Given the description of an element on the screen output the (x, y) to click on. 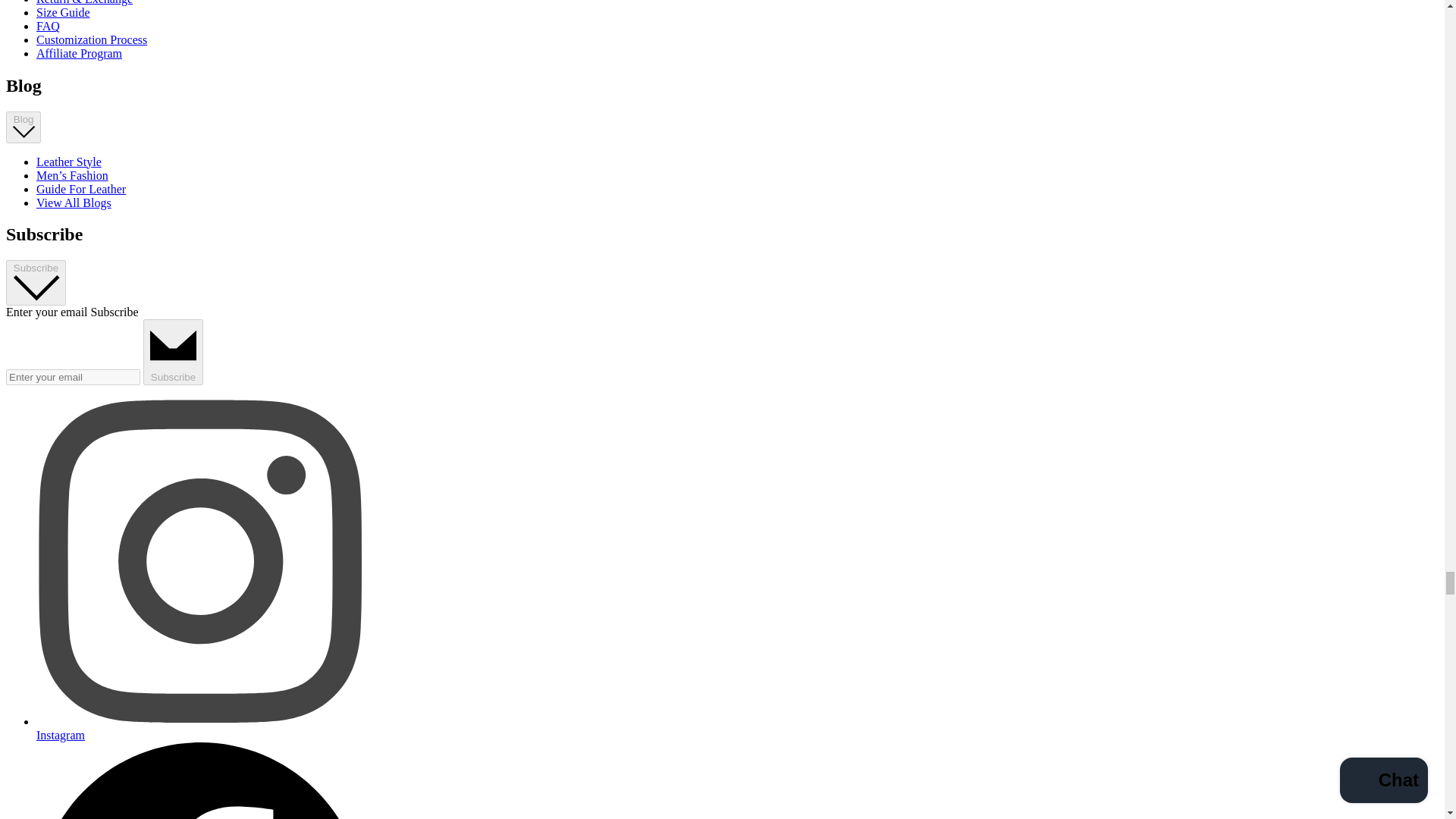
icon-email (172, 345)
Leatherwear on Instagram (200, 728)
instagram (200, 560)
